Given the description of an element on the screen output the (x, y) to click on. 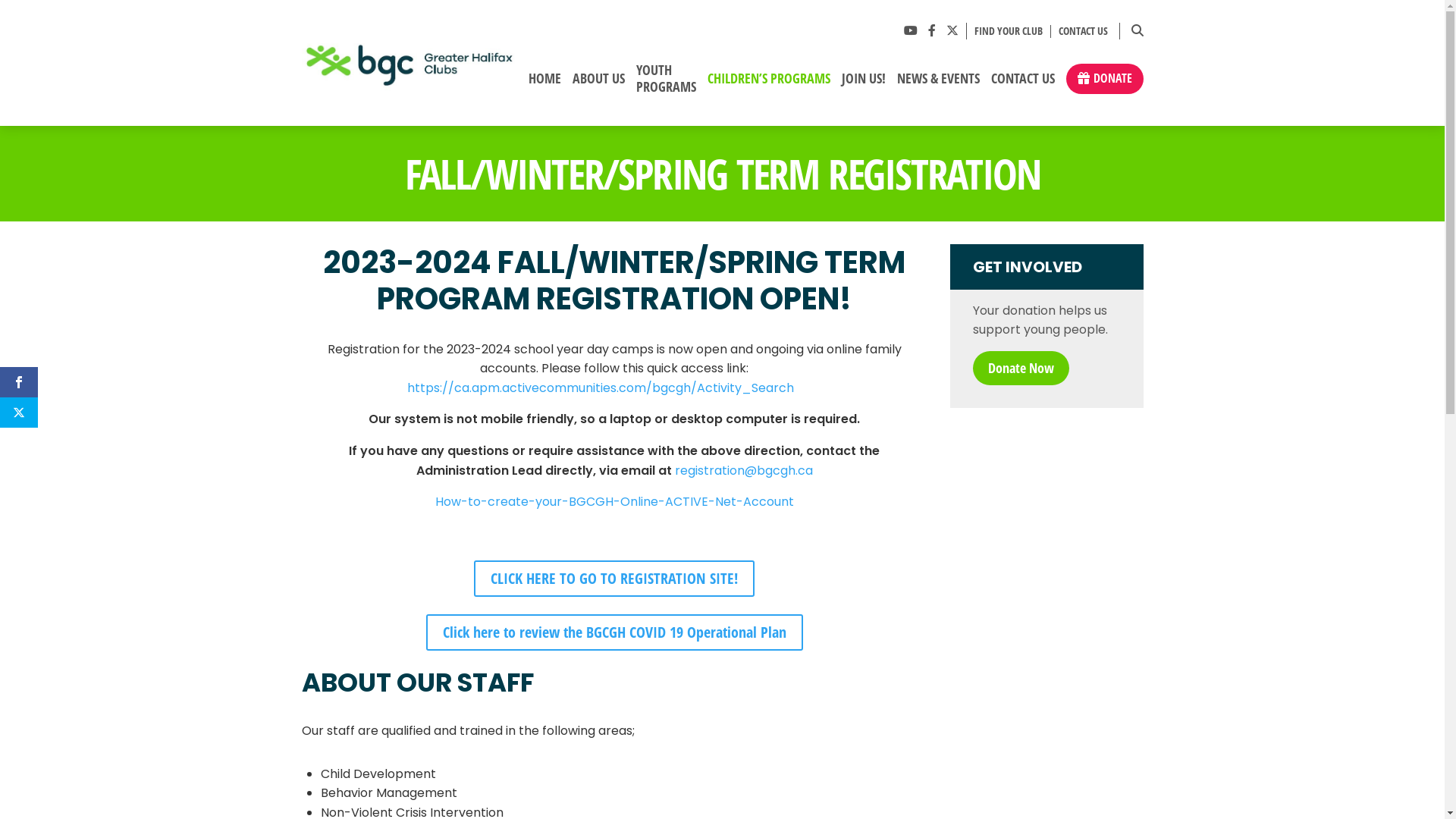
FIND YOUR CLUB Element type: text (1008, 31)
YOUTH PROGRAMS Element type: text (665, 84)
CONTACT US Element type: text (1022, 84)
ABOUT US Element type: text (598, 84)
https://ca.apm.activecommunities.com/bgcgh/Activity_Search Element type: text (600, 391)
CONTACT US Element type: text (1079, 31)
CLICK HERE TO GO TO REGISTRATION SITE! Element type: text (613, 578)
DONATE Element type: text (1104, 78)
HOME Element type: text (544, 84)
How-to-create-your-BGCGH-Online-ACTIVE-Net-Account Element type: text (614, 504)
Click here to review the BGCGH COVID 19 Operational Plan Element type: text (614, 632)
registration@bgcgh.ca Element type: text (743, 473)
JOIN US! Element type: text (863, 84)
Donate Now Element type: text (1020, 368)
NEWS & EVENTS Element type: text (938, 84)
